Given the description of an element on the screen output the (x, y) to click on. 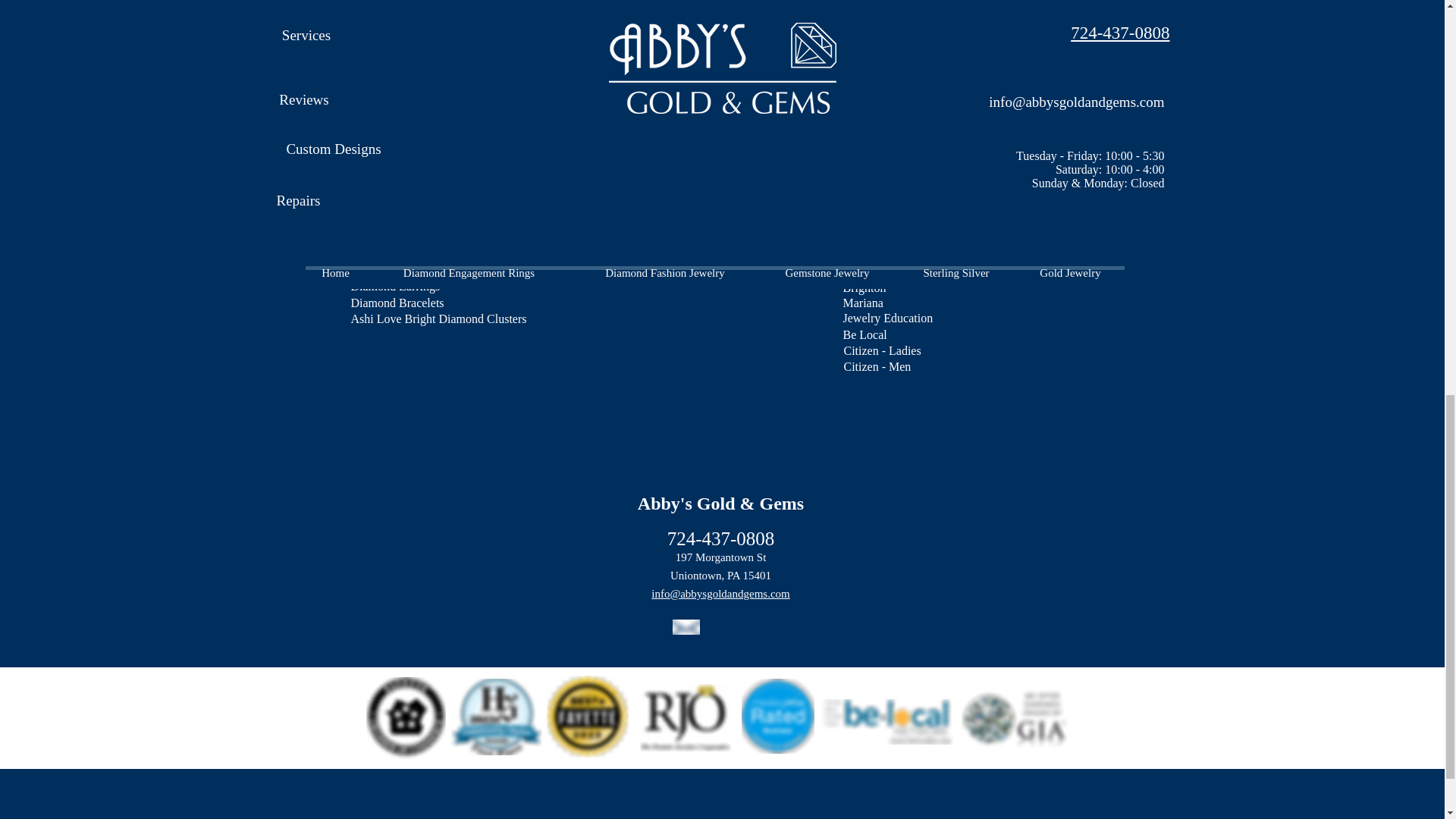
Ashi Bridal (378, 130)
Allison Kaufman Bridal (408, 115)
Men's Wedding Rings (403, 100)
Diamond Anniversary Rings (419, 82)
Diamond Wedding Rings (411, 64)
Diamond Engagement Rings (433, 46)
